Given the description of an element on the screen output the (x, y) to click on. 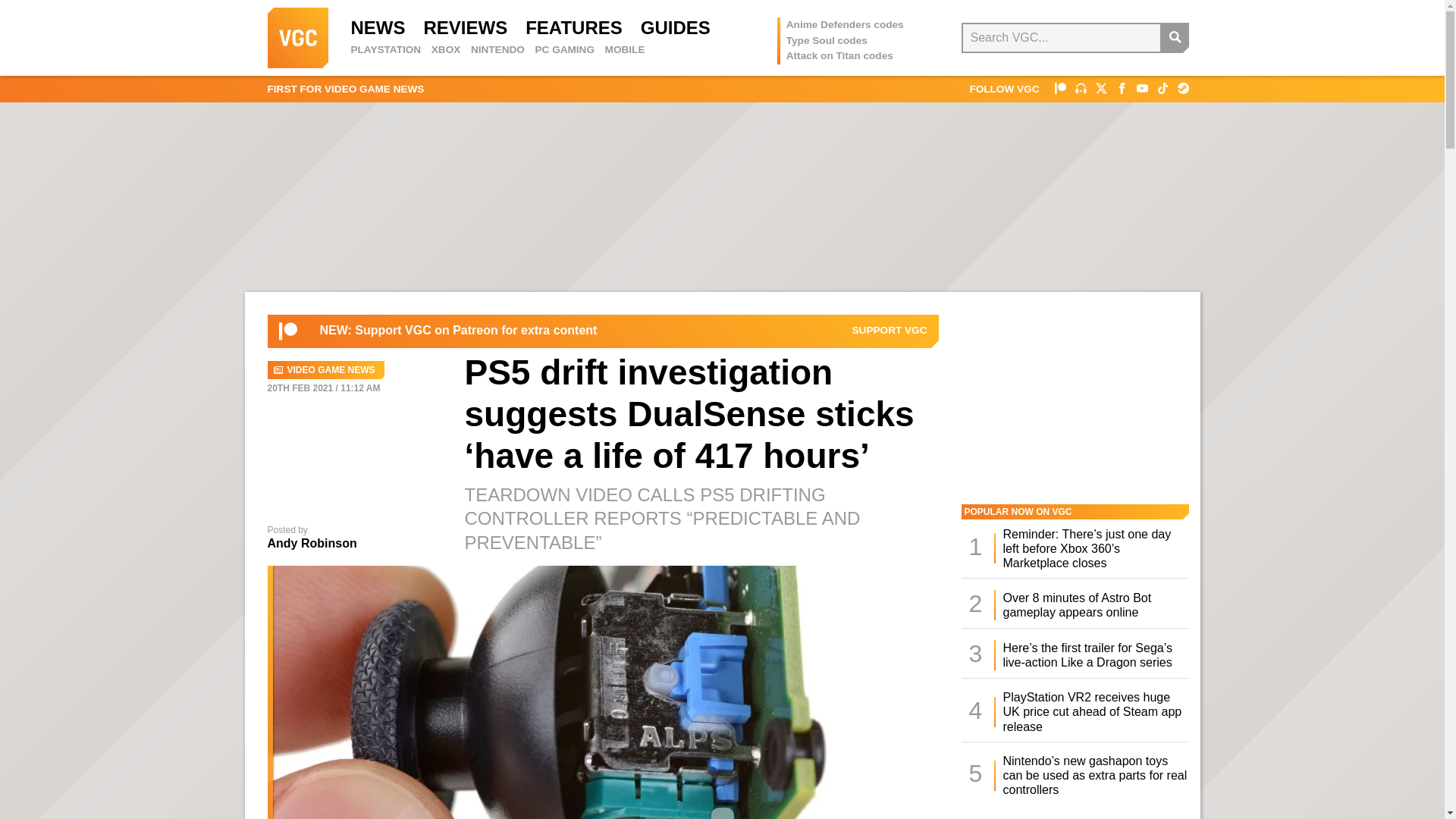
Anime Defenders codes (845, 24)
VGC (296, 37)
GUIDES (675, 27)
Andy Robinson (311, 543)
NINTENDO (497, 49)
MOBILE (625, 49)
XBOX (445, 49)
VIDEO GAME NEWS (325, 370)
NEWS (377, 27)
FEATURES (574, 27)
Posts by Andy Robinson (311, 543)
PC GAMING (564, 49)
REVIEWS (464, 27)
SUPPORT VGC (889, 330)
VGC on Patreon (288, 331)
